Given the description of an element on the screen output the (x, y) to click on. 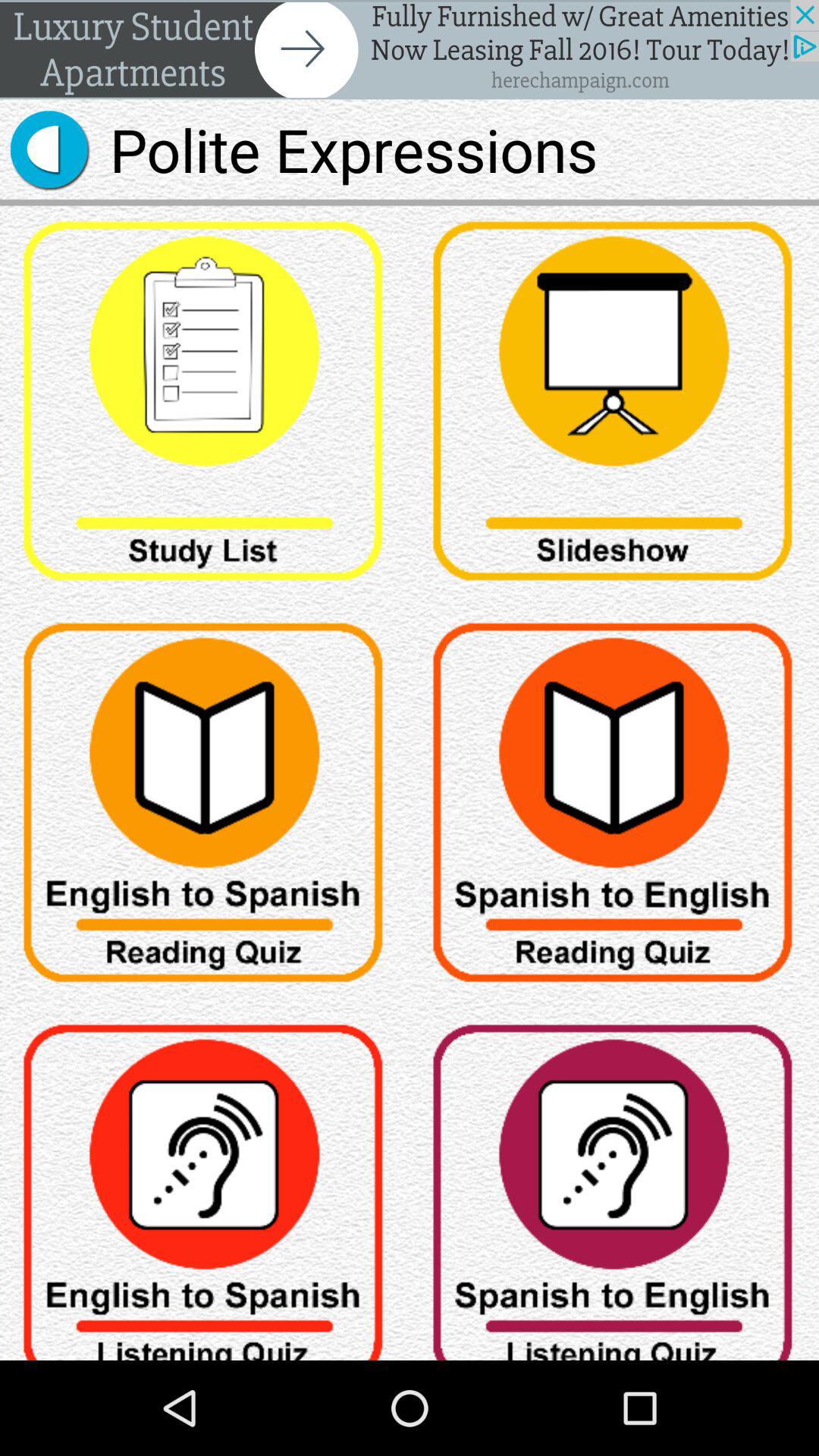
open slideshow screen (614, 406)
